Given the description of an element on the screen output the (x, y) to click on. 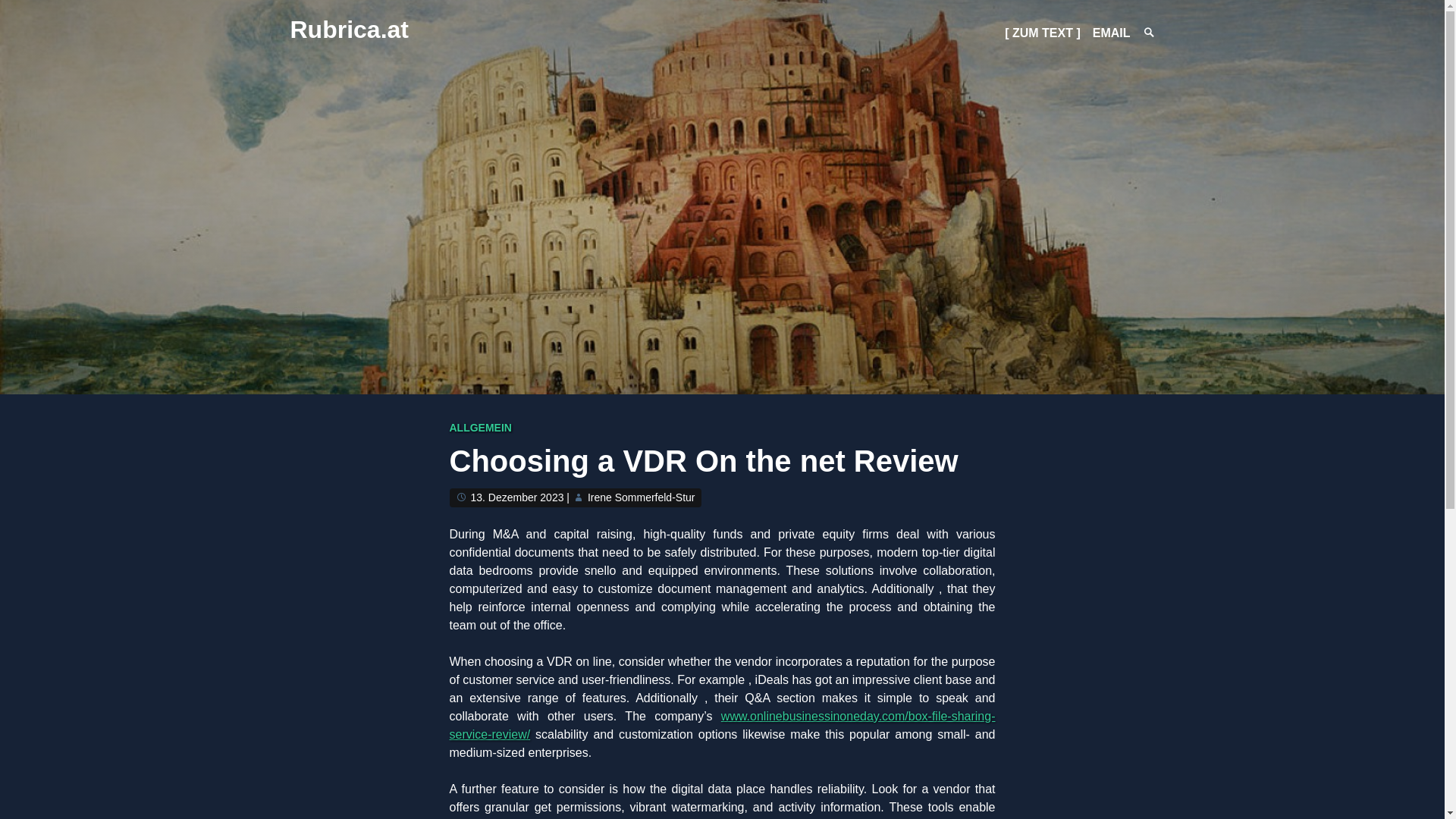
13. Dezember 2023 (516, 497)
ALLGEMEIN (479, 427)
Irene Sommerfeld-Stur (641, 497)
EMAIL (1112, 32)
Rubrica.at (348, 29)
